Given the description of an element on the screen output the (x, y) to click on. 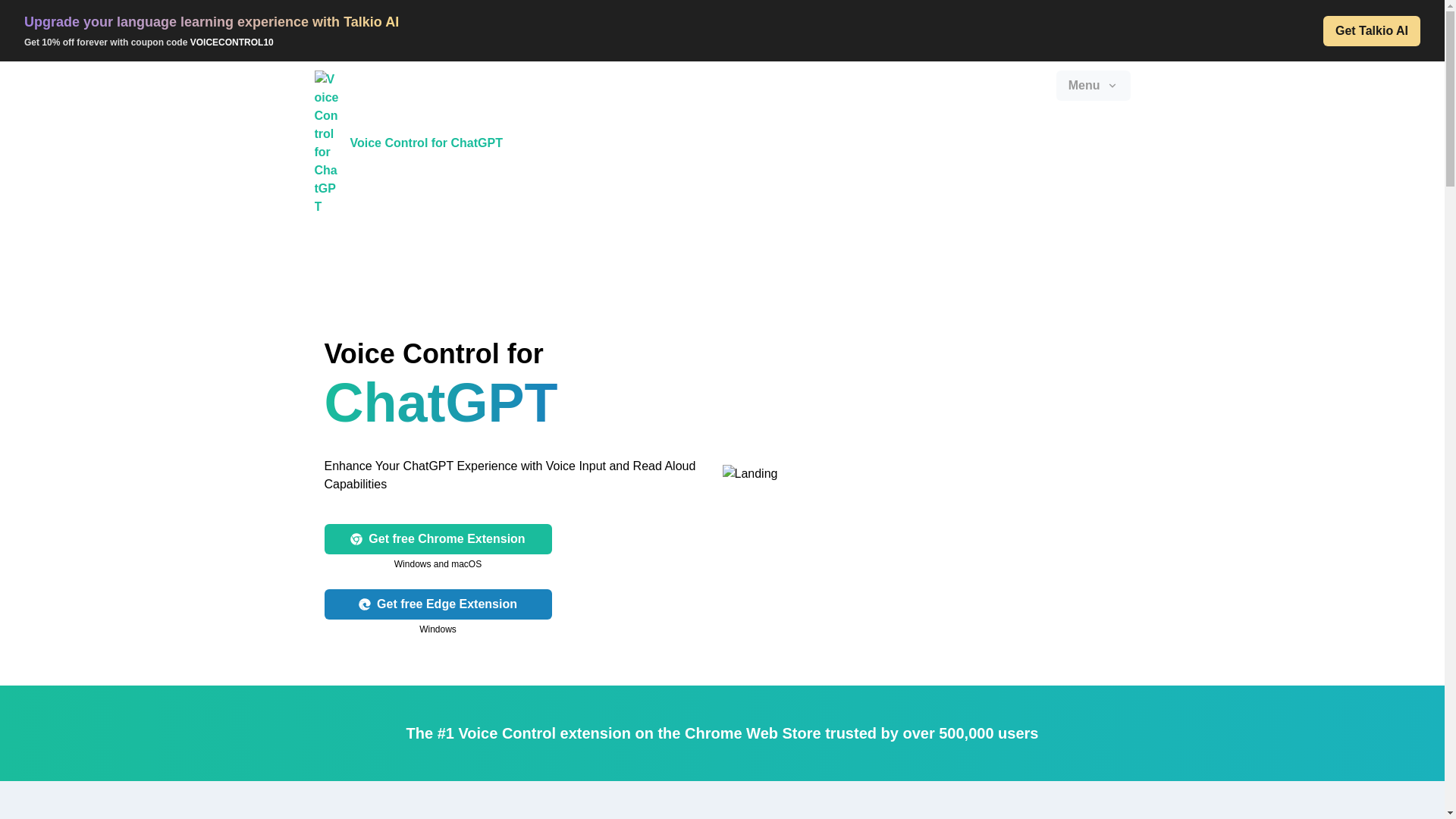
Menu (1094, 85)
Get free Chrome Extension (437, 539)
Get Talkio AI (1372, 30)
Voice Control for ChatGPT (408, 143)
Talkio AI (370, 21)
Get free Edge Extension (437, 603)
